Given the description of an element on the screen output the (x, y) to click on. 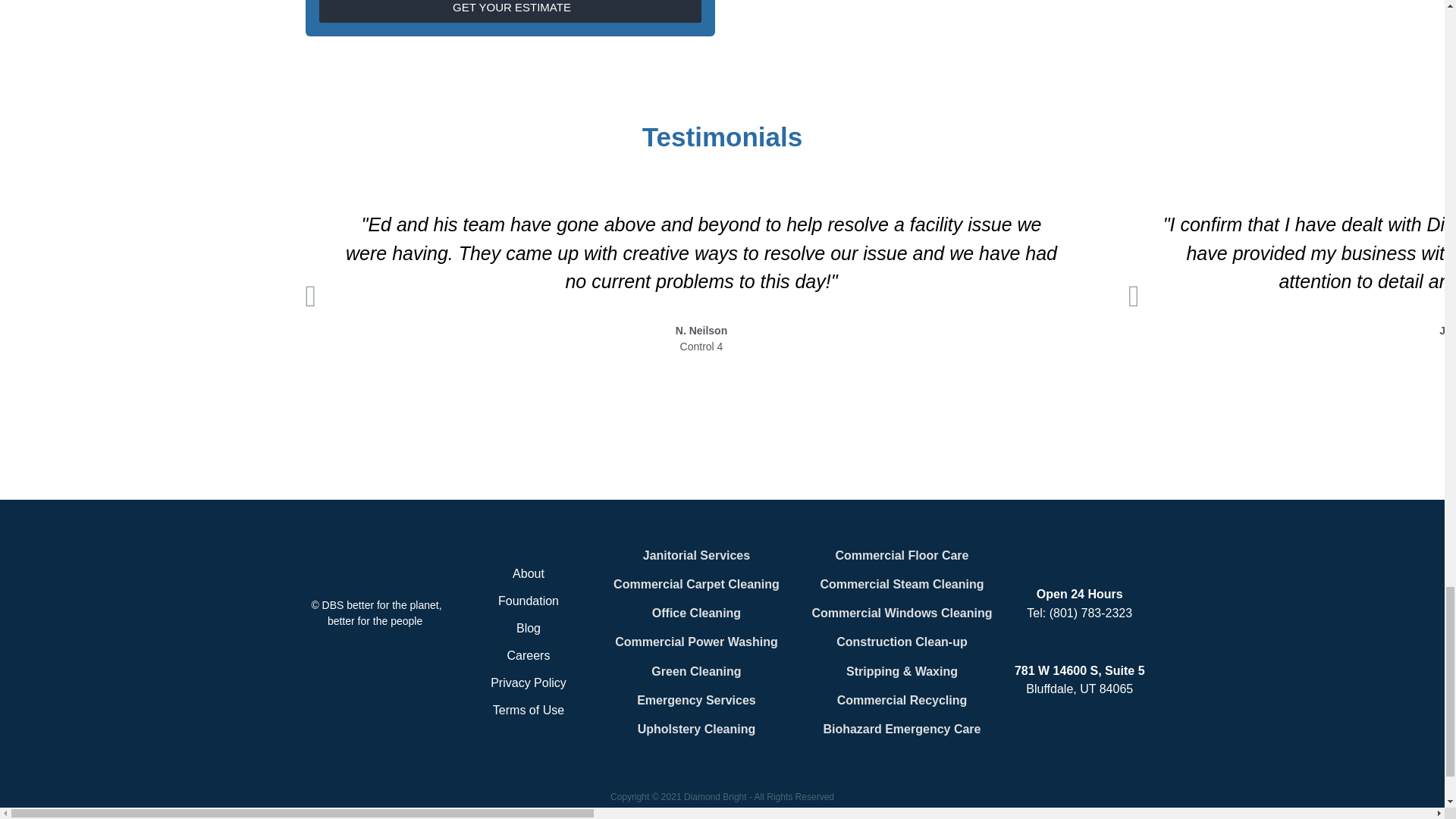
unnamed (376, 563)
